Given the description of an element on the screen output the (x, y) to click on. 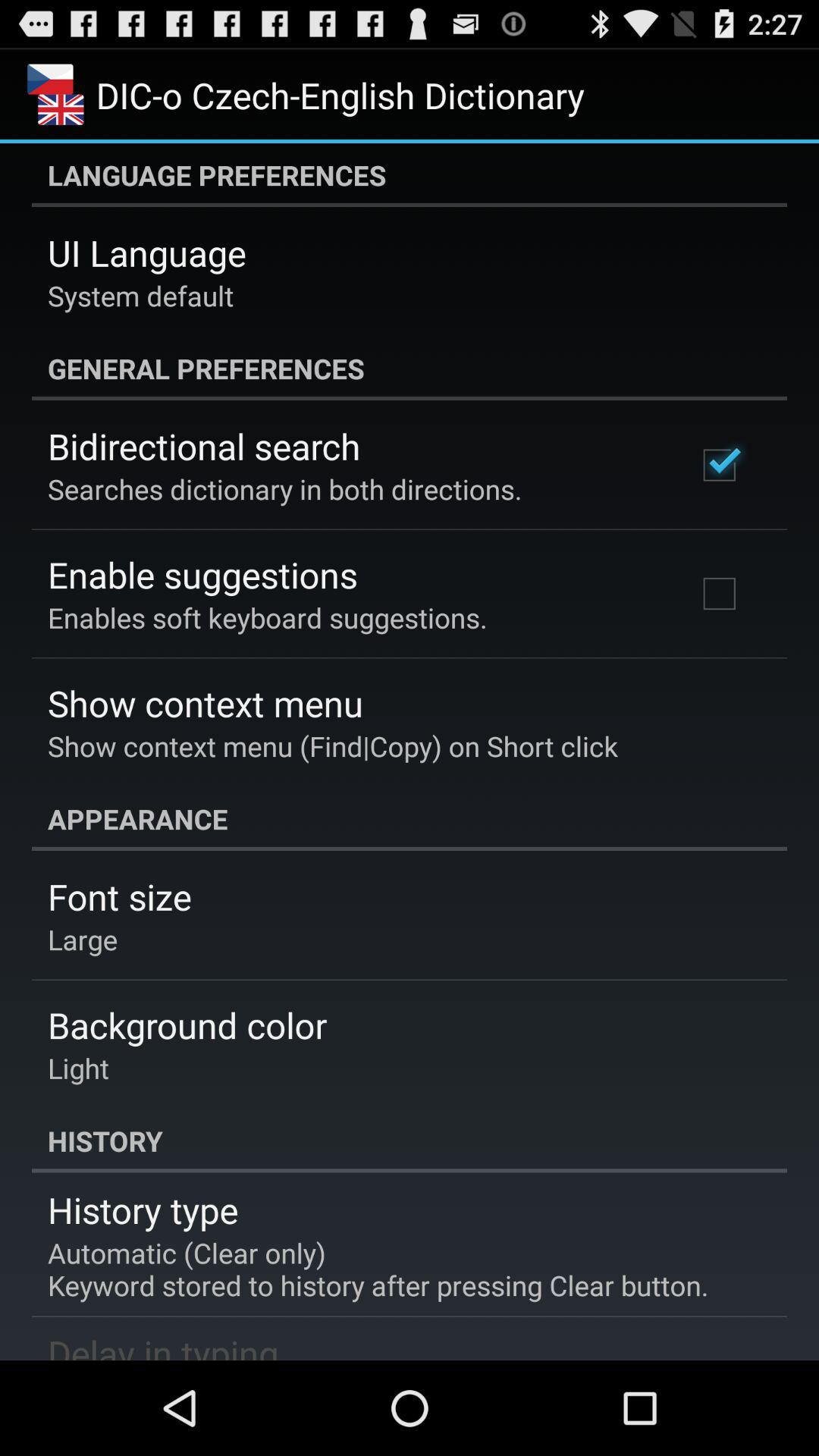
scroll to searches dictionary in (284, 488)
